Given the description of an element on the screen output the (x, y) to click on. 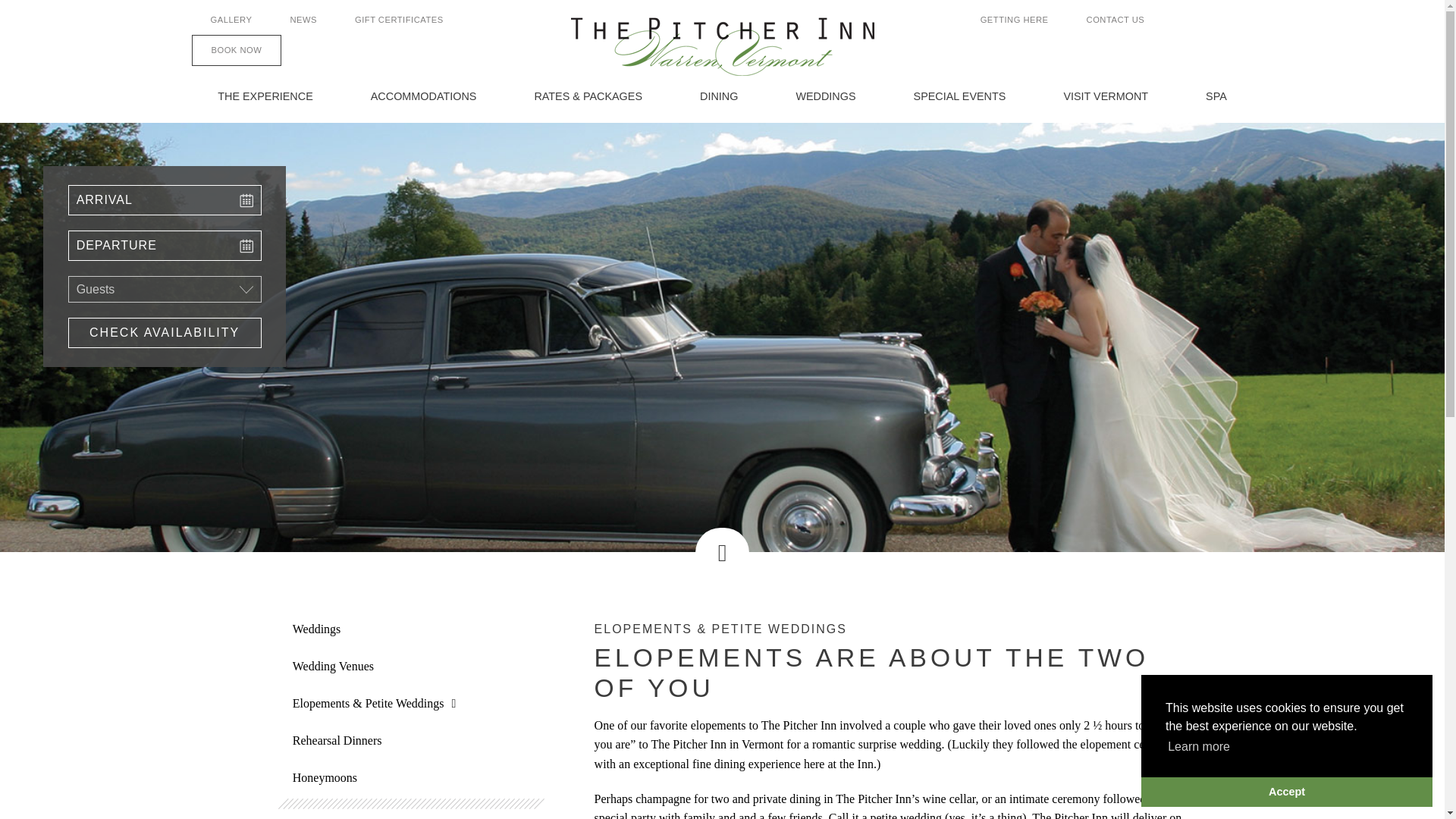
Learn more (1198, 746)
DINING (719, 95)
GIFT CERTIFICATES (399, 19)
NEWS (303, 19)
BOOK NOW (235, 50)
Check availability (165, 332)
THE EXPERIENCE (265, 95)
Arrival (165, 200)
Accept (1286, 791)
CONTACT US (1115, 19)
GALLERY (230, 19)
Check availability (165, 332)
GETTING HERE (1013, 19)
ACCOMMODATIONS (423, 95)
Departure (165, 245)
